Given the description of an element on the screen output the (x, y) to click on. 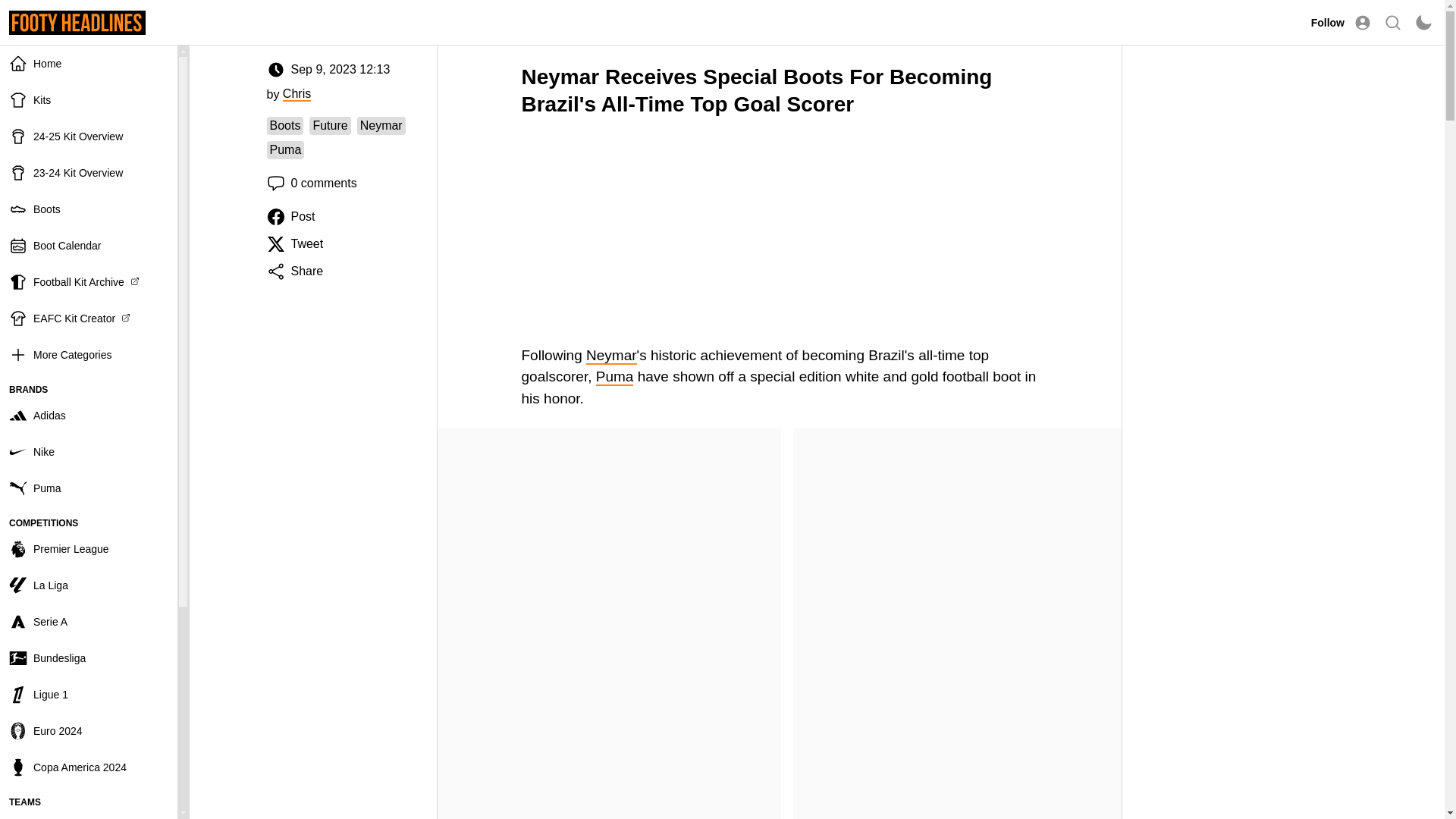
Premier League (88, 548)
Home (88, 63)
EAFC Kit Creator (88, 318)
Boot Calendar (88, 245)
Serie A (88, 621)
Follow (1327, 22)
Kits (88, 99)
Nike (88, 452)
Boots (88, 208)
Adidas (88, 415)
23-24 Kit Overview (88, 172)
More Categories (88, 354)
Puma (88, 488)
La Liga (88, 585)
Bundesliga (88, 657)
